Given the description of an element on the screen output the (x, y) to click on. 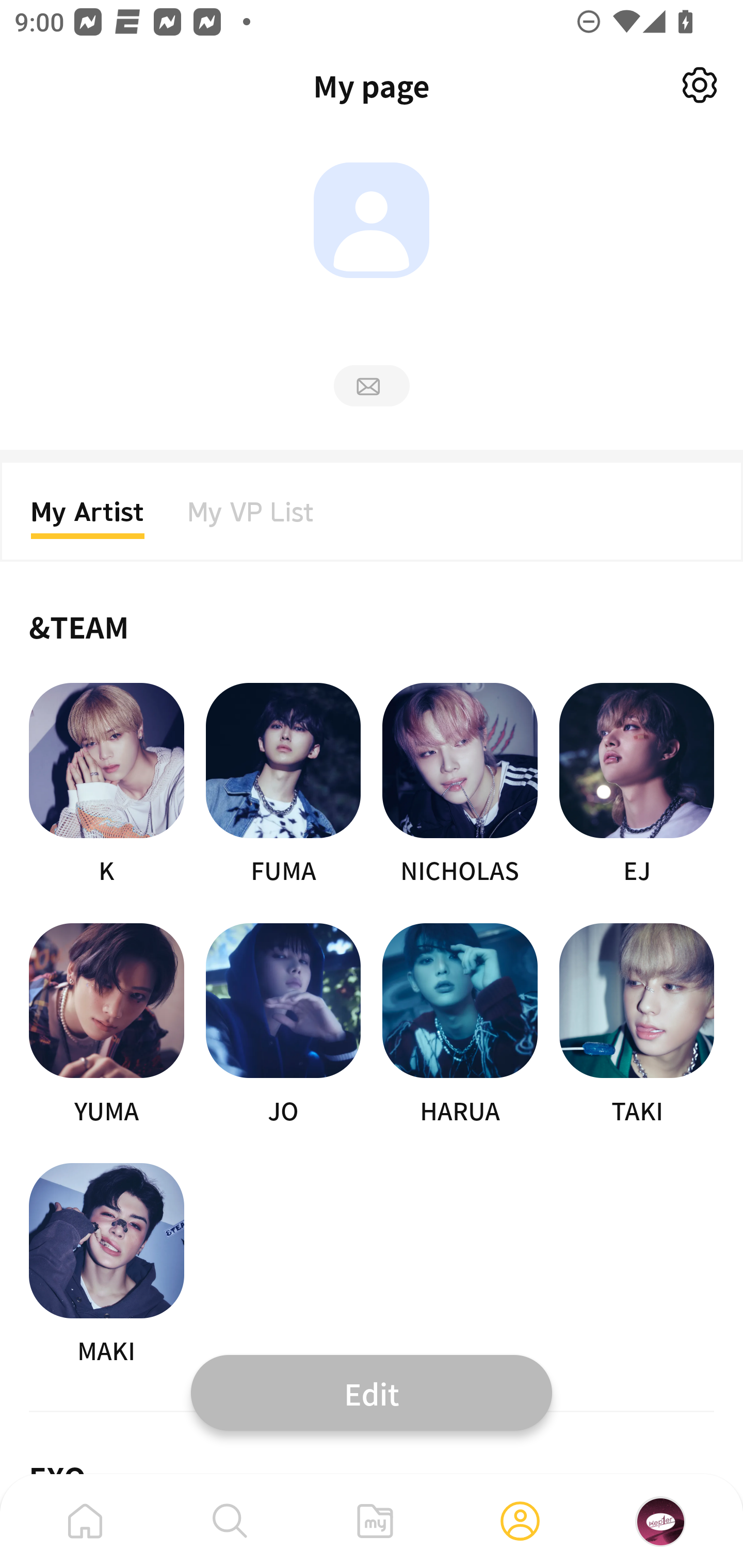
My Artist (87, 517)
My VP List (250, 517)
K (106, 785)
FUMA (282, 785)
NICHOLAS (459, 785)
EJ (636, 785)
YUMA (106, 1025)
JO (282, 1025)
HARUA (459, 1025)
TAKI (636, 1025)
MAKI (106, 1265)
Edit (371, 1392)
